Given the description of an element on the screen output the (x, y) to click on. 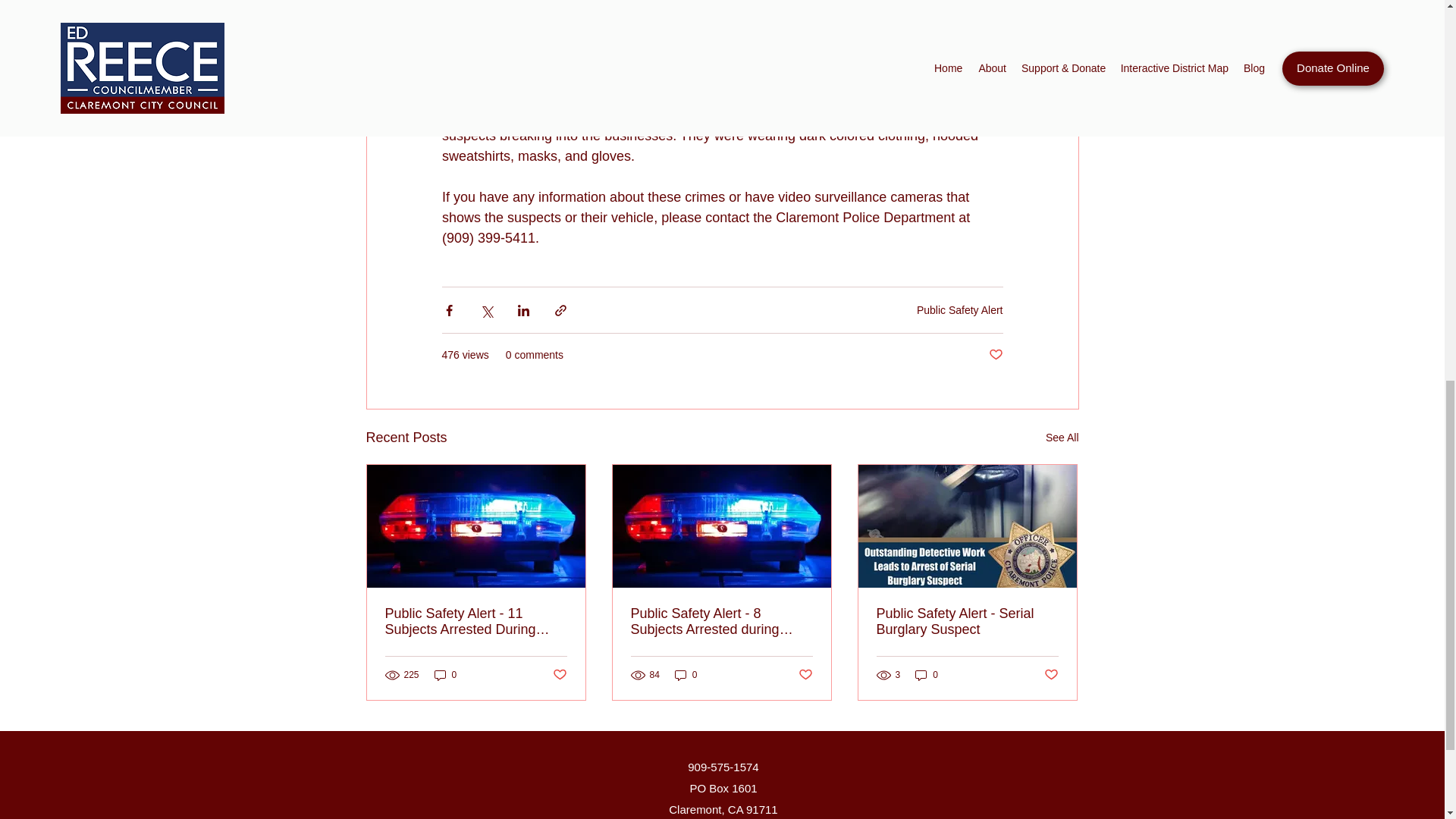
Public Safety Alert (960, 309)
Post not marked as liked (1050, 675)
0 (445, 675)
Post not marked as liked (995, 355)
Post not marked as liked (804, 675)
See All (1061, 437)
Public Safety Alert - Serial Burglary Suspect (967, 622)
Post not marked as liked (558, 675)
0 (926, 675)
